Given the description of an element on the screen output the (x, y) to click on. 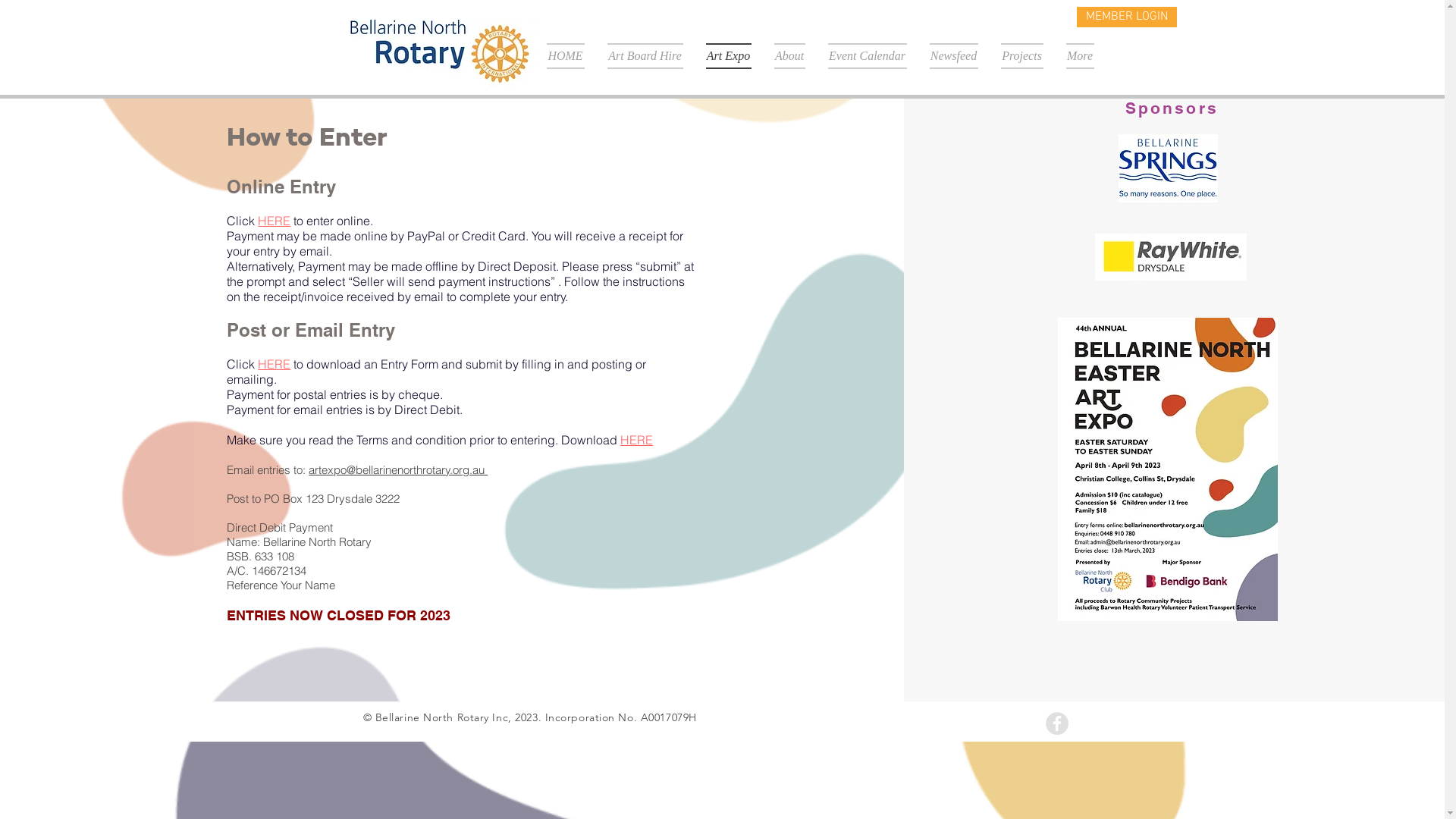
Projects Element type: text (1021, 56)
HERE Element type: text (273, 364)
HOME Element type: text (570, 56)
About Element type: text (789, 56)
MEMBER LOGIN Element type: text (1126, 16)
HERE Element type: text (636, 440)
Art Expo Element type: text (728, 56)
Newsfeed Element type: text (952, 56)
HERE Element type: text (273, 220)
artexpo@bellarinenorthrotary.org.au  Element type: text (397, 469)
Event Calendar Element type: text (866, 56)
Art Board Hire Element type: text (645, 56)
